Given the description of an element on the screen output the (x, y) to click on. 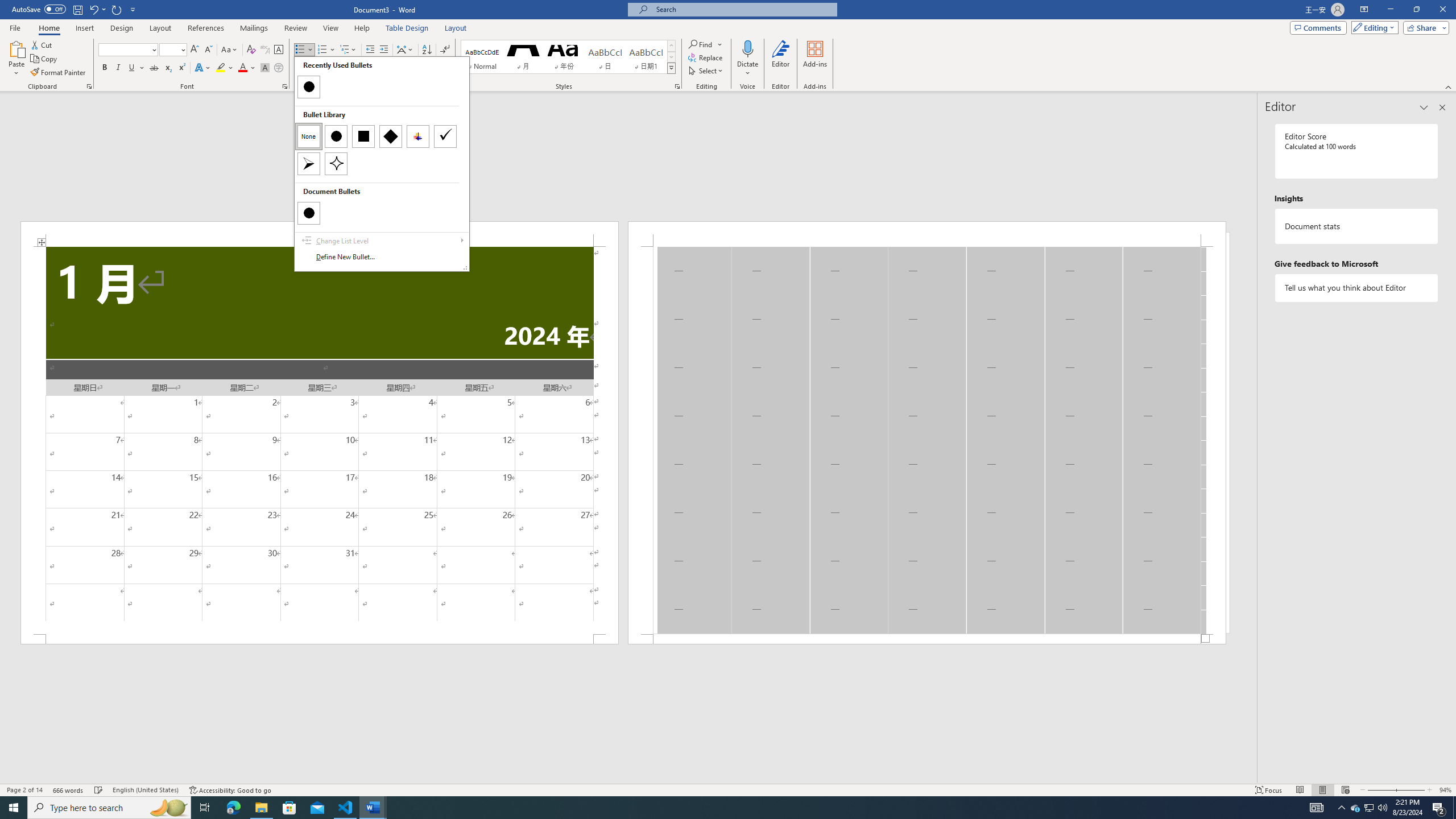
Header -Section 1- (926, 233)
Editor (780, 58)
Spelling and Grammar Check Checking (98, 790)
Action Center, 2 new notifications (1439, 807)
Decrease Indent (370, 49)
Cut (42, 44)
Microsoft search (742, 9)
Word Count 666 words (68, 790)
Table Design (407, 28)
Open (182, 49)
User Promoted Notification Area (1368, 807)
Font... (285, 85)
Increase Indent (383, 49)
Collapse the Ribbon (1448, 86)
